Given the description of an element on the screen output the (x, y) to click on. 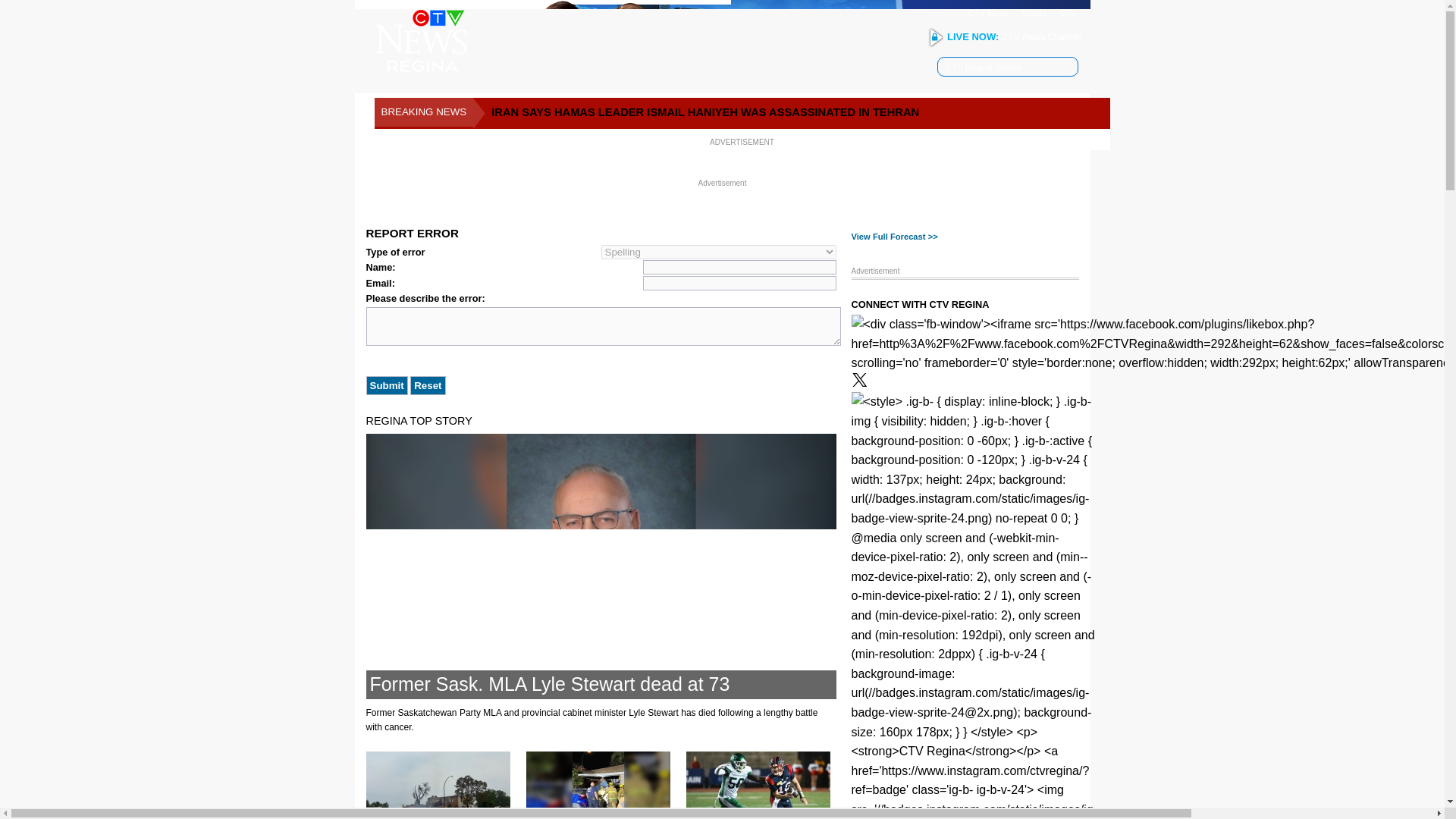
Reset (427, 384)
Lyle Stewart (600, 566)
Lamont Cres.  (597, 785)
CTV (1068, 12)
Saskatchewan Roughriders (757, 785)
Mobile (1034, 12)
Submit (386, 384)
CTV Regina (420, 40)
CTV News Channel (1041, 36)
CTV News (988, 12)
CTV (1068, 12)
Submit (386, 384)
Long Creek Saloon (437, 785)
Former Sask. MLA Lyle Stewart dead at 73 (549, 683)
